Given the description of an element on the screen output the (x, y) to click on. 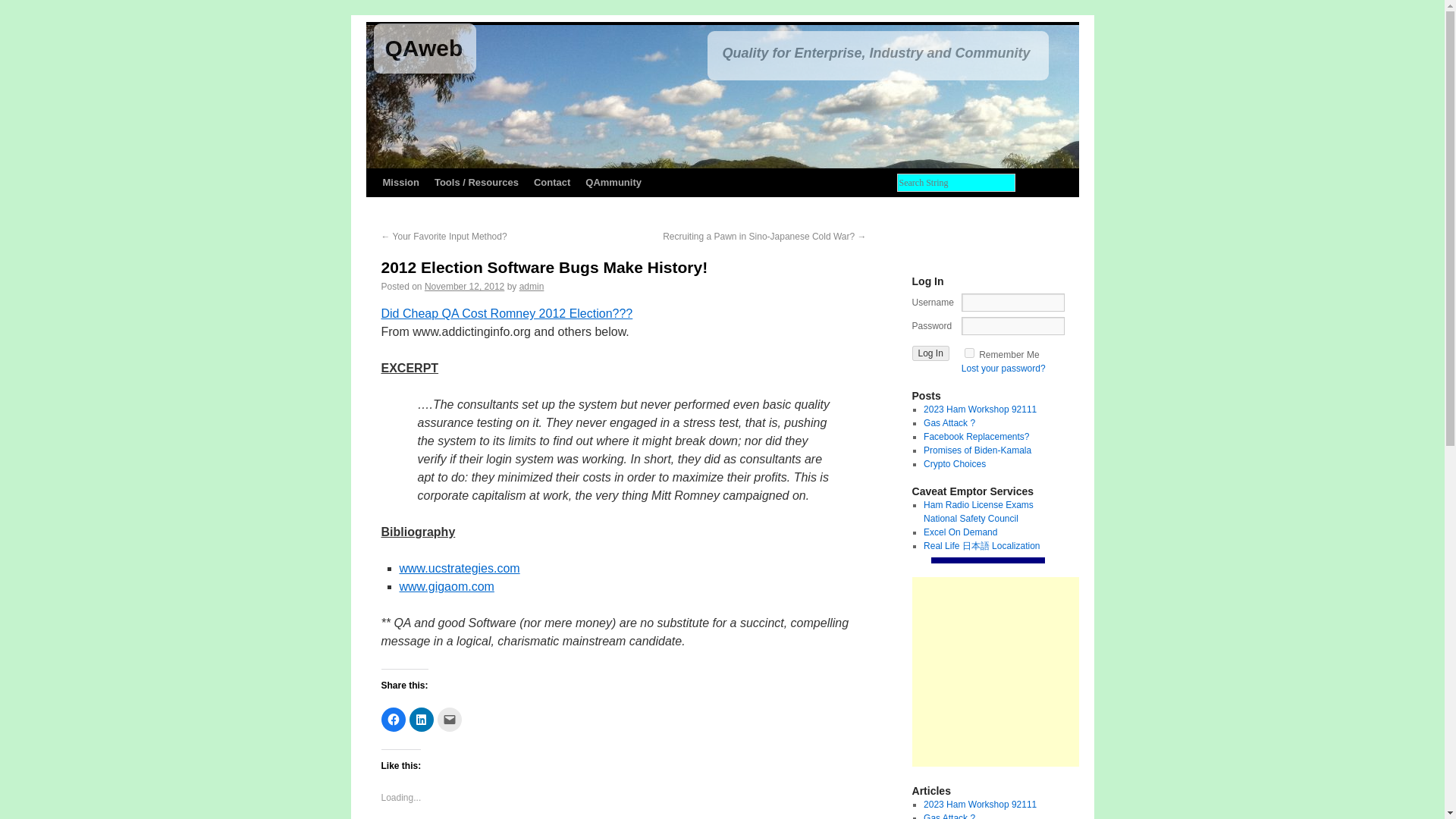
Did Cheap QA Cost Romney 2012 Election??? (505, 313)
QAweb (424, 48)
www.gigaom.com (445, 585)
20:43 (464, 286)
Password Lost and Found (1002, 368)
QAweb (424, 48)
Click to share on LinkedIn (421, 719)
Mission (400, 182)
QAmmunity (613, 182)
admin (531, 286)
